Given the description of an element on the screen output the (x, y) to click on. 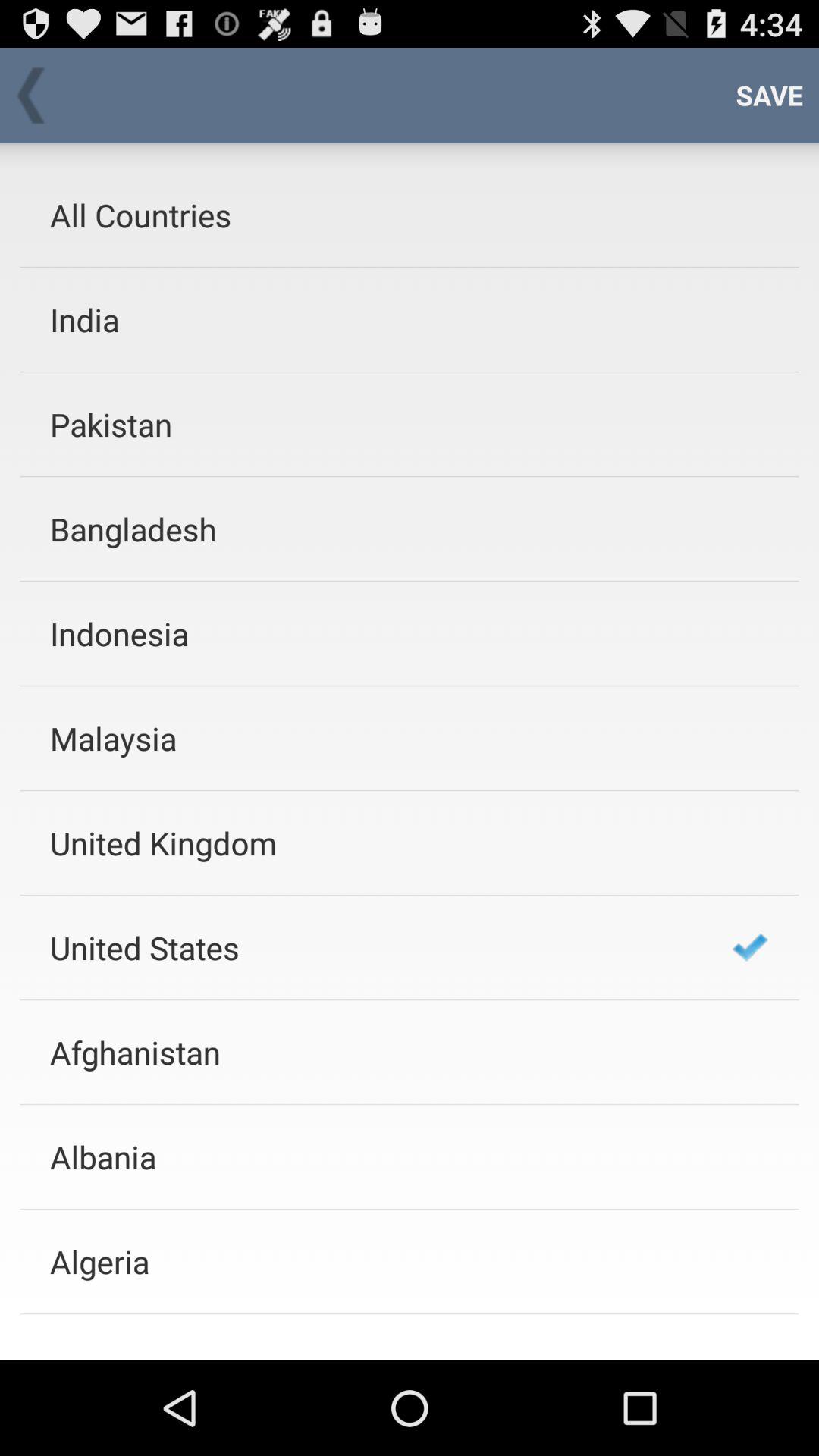
tap the malaysia (371, 737)
